Given the description of an element on the screen output the (x, y) to click on. 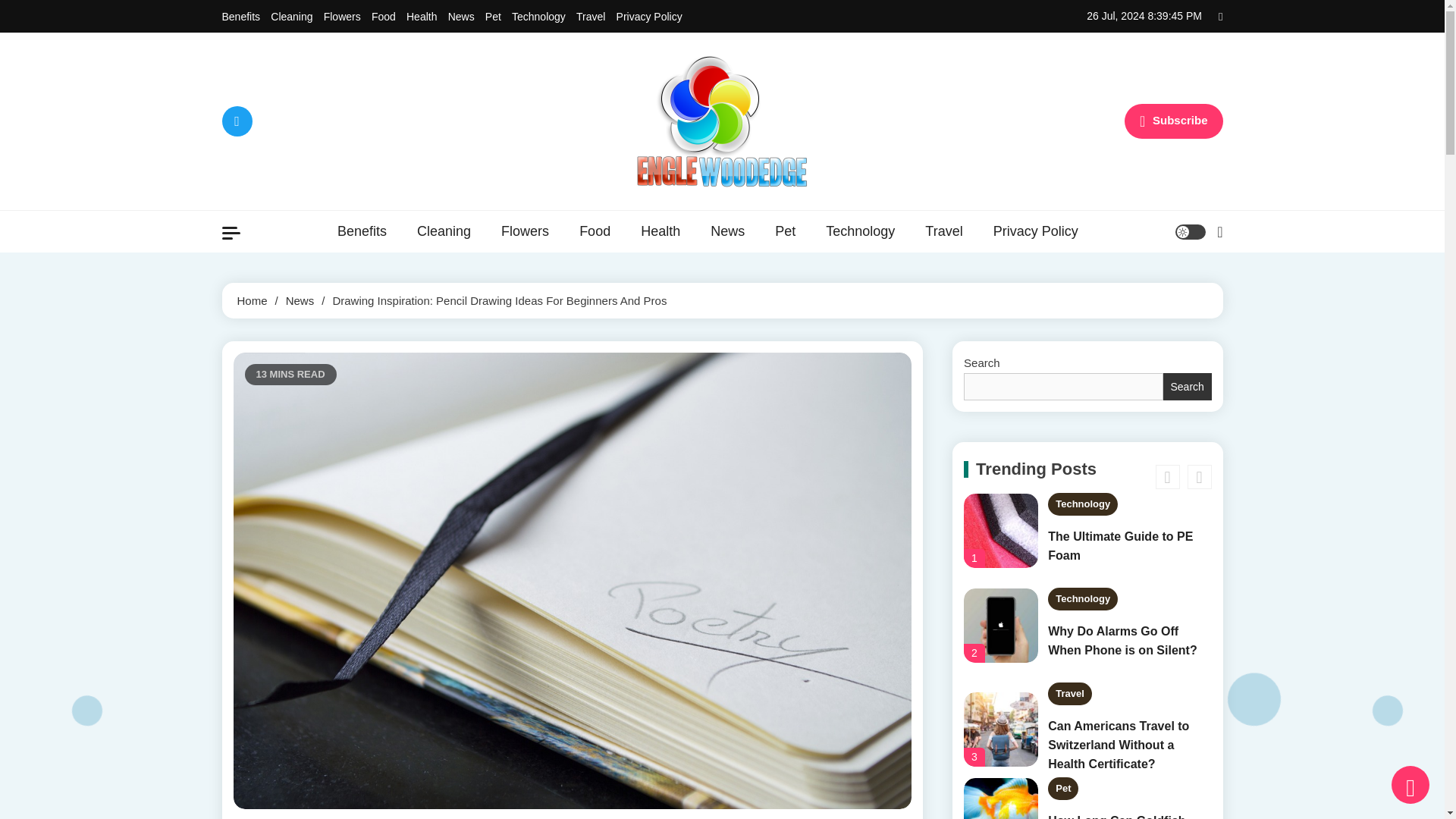
Pet (492, 16)
News (461, 16)
Food (595, 231)
Technology (860, 231)
Privacy Policy (648, 16)
Englewoodedge (558, 204)
Health (660, 231)
Home (250, 300)
Travel (590, 16)
Cleaning (443, 231)
site mode button (1189, 231)
News (727, 231)
Benefits (240, 16)
Travel (943, 231)
Food (383, 16)
